Given the description of an element on the screen output the (x, y) to click on. 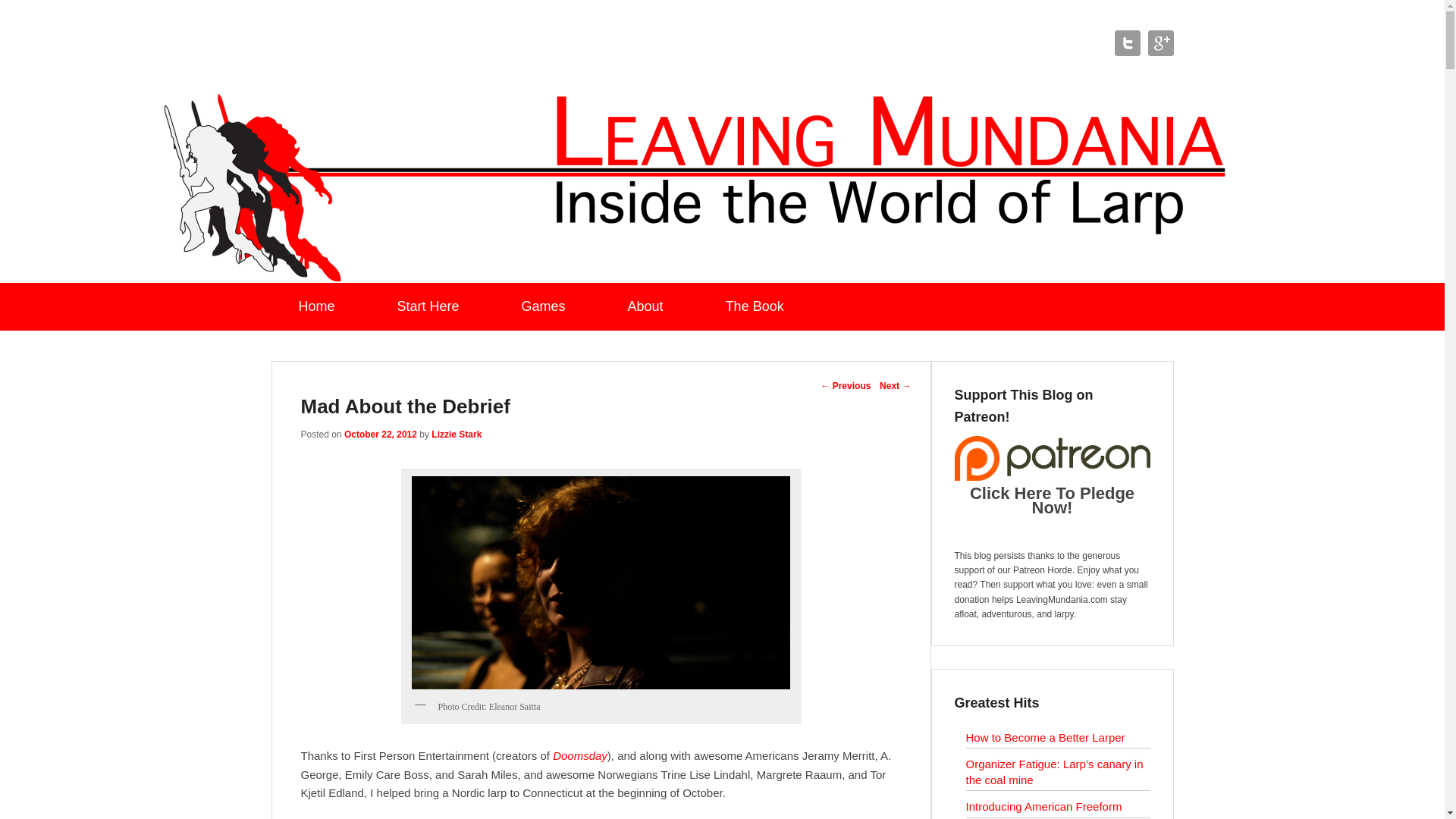
Skip to secondary content (65, 291)
11:15 am (379, 434)
Skip to primary content (58, 291)
The Book (754, 306)
Leaving Mundania in Twitter (1127, 43)
Lizzie Stark (455, 434)
Skip to primary content (58, 291)
Doomsday (580, 755)
Skip to secondary content (65, 291)
Start Here (427, 306)
